Given the description of an element on the screen output the (x, y) to click on. 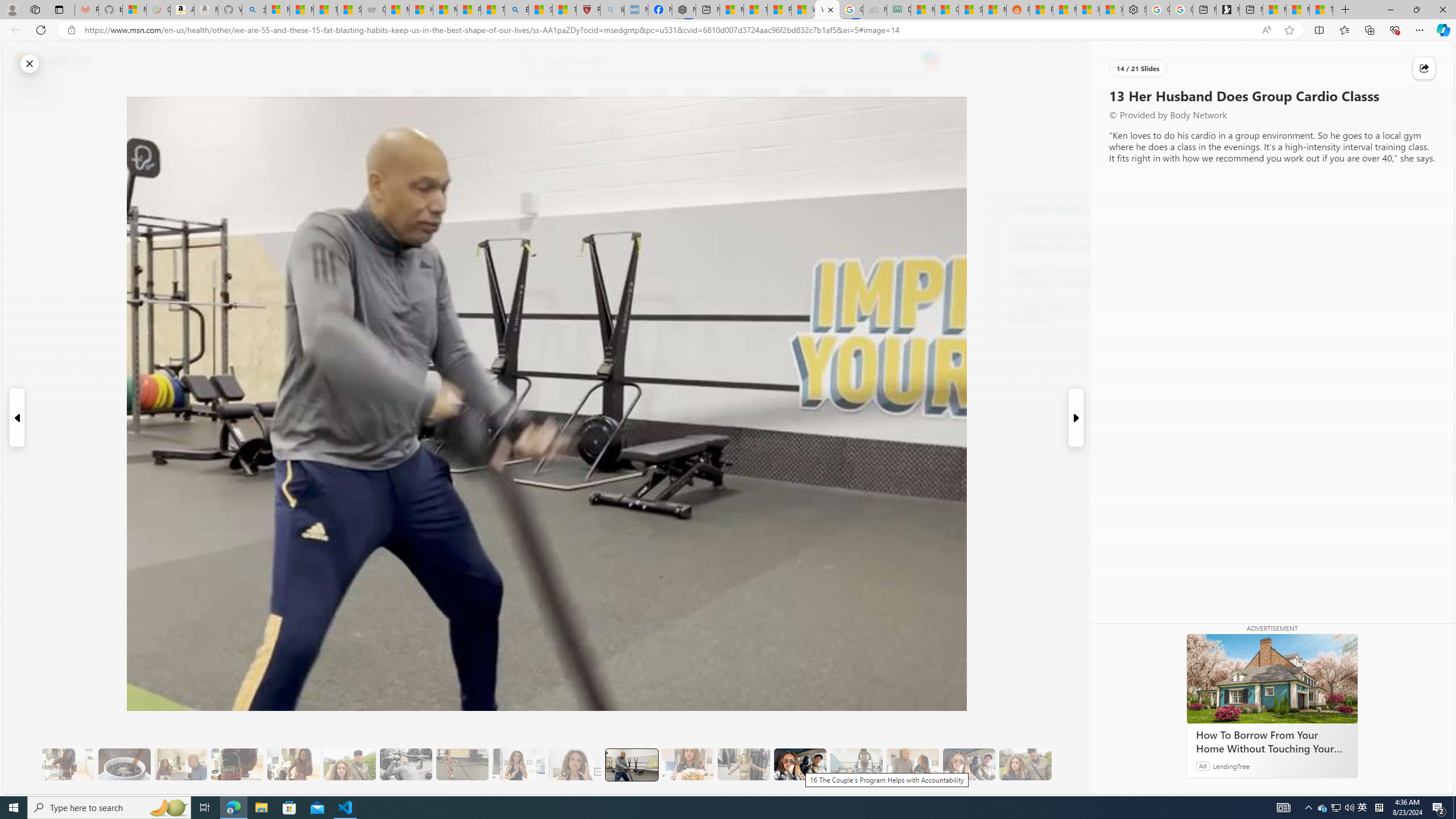
16 The Couple's Program Helps with Accountability (800, 764)
Feedback (1410, 784)
Discover (327, 92)
Fitness - MSN (779, 9)
list of asthma inhalers uk - Search - Sleeping (611, 9)
Stocks - MSN (970, 9)
Open settings (1427, 60)
11 They Eat More Protein for Breakfast (518, 764)
Navy Quest (874, 9)
Open Copilot (930, 59)
MSN (993, 9)
5 She Eats Less Than Her Husband (180, 764)
Microsoft rewards (1382, 60)
